Given the description of an element on the screen output the (x, y) to click on. 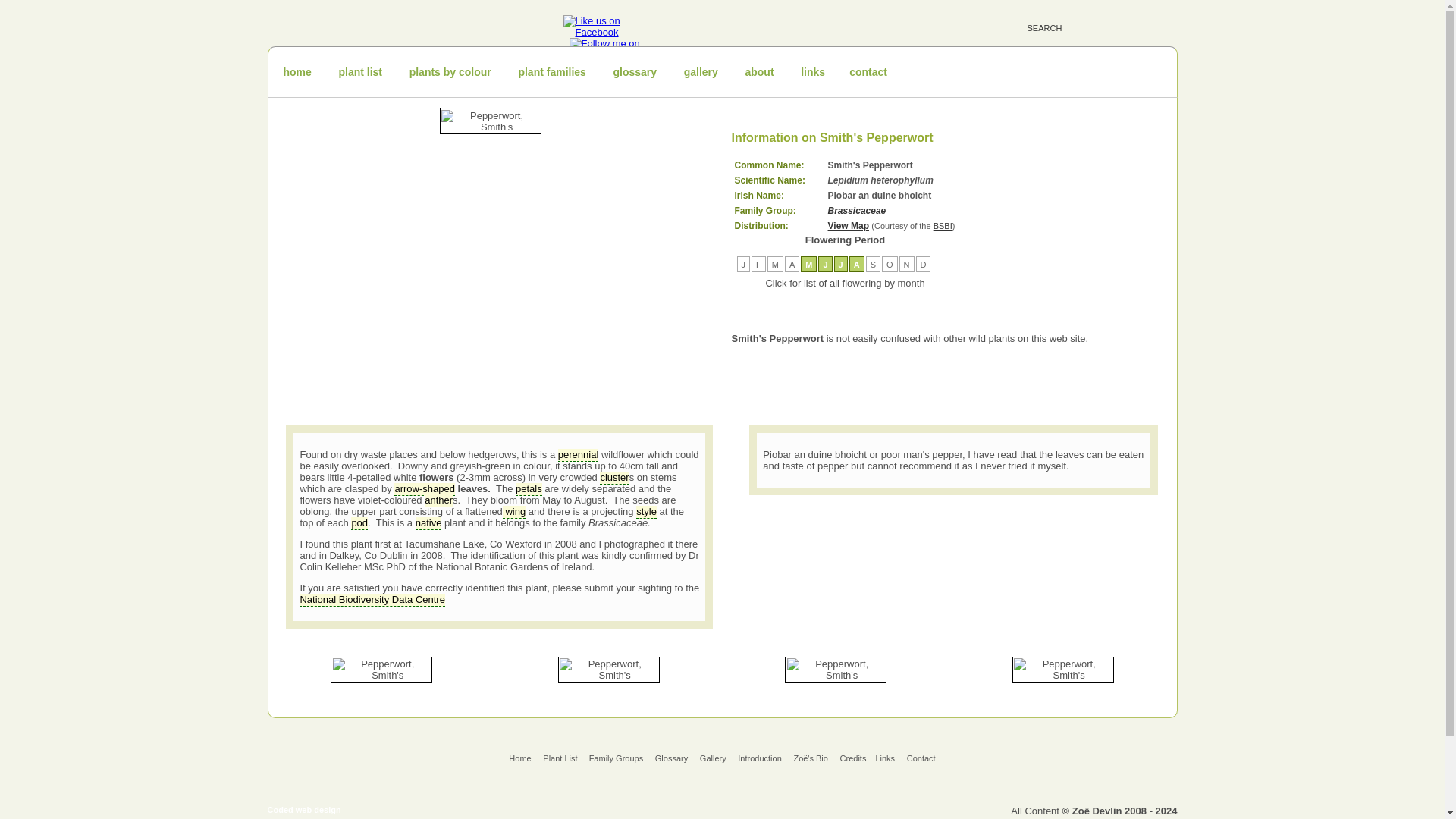
M (808, 264)
glossary (633, 71)
A (791, 264)
J (743, 264)
about (759, 71)
SEARCH (1075, 25)
contact (868, 71)
home (296, 71)
links (813, 71)
Brassicaceae (857, 210)
J (824, 264)
View Map (848, 225)
plant families (550, 71)
N (907, 264)
